Given the description of an element on the screen output the (x, y) to click on. 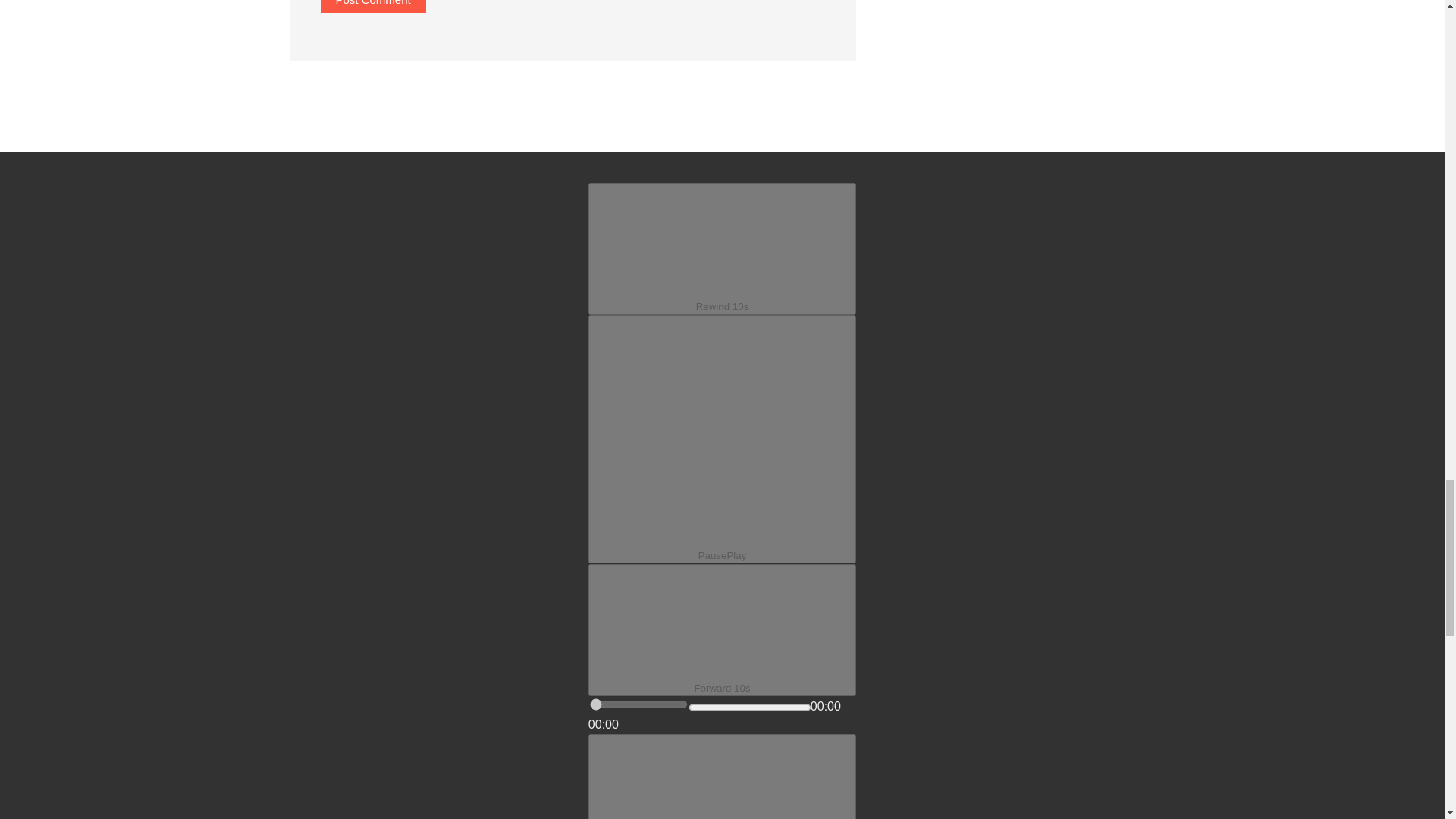
Post Comment (372, 6)
Post Comment (372, 6)
